Given the description of an element on the screen output the (x, y) to click on. 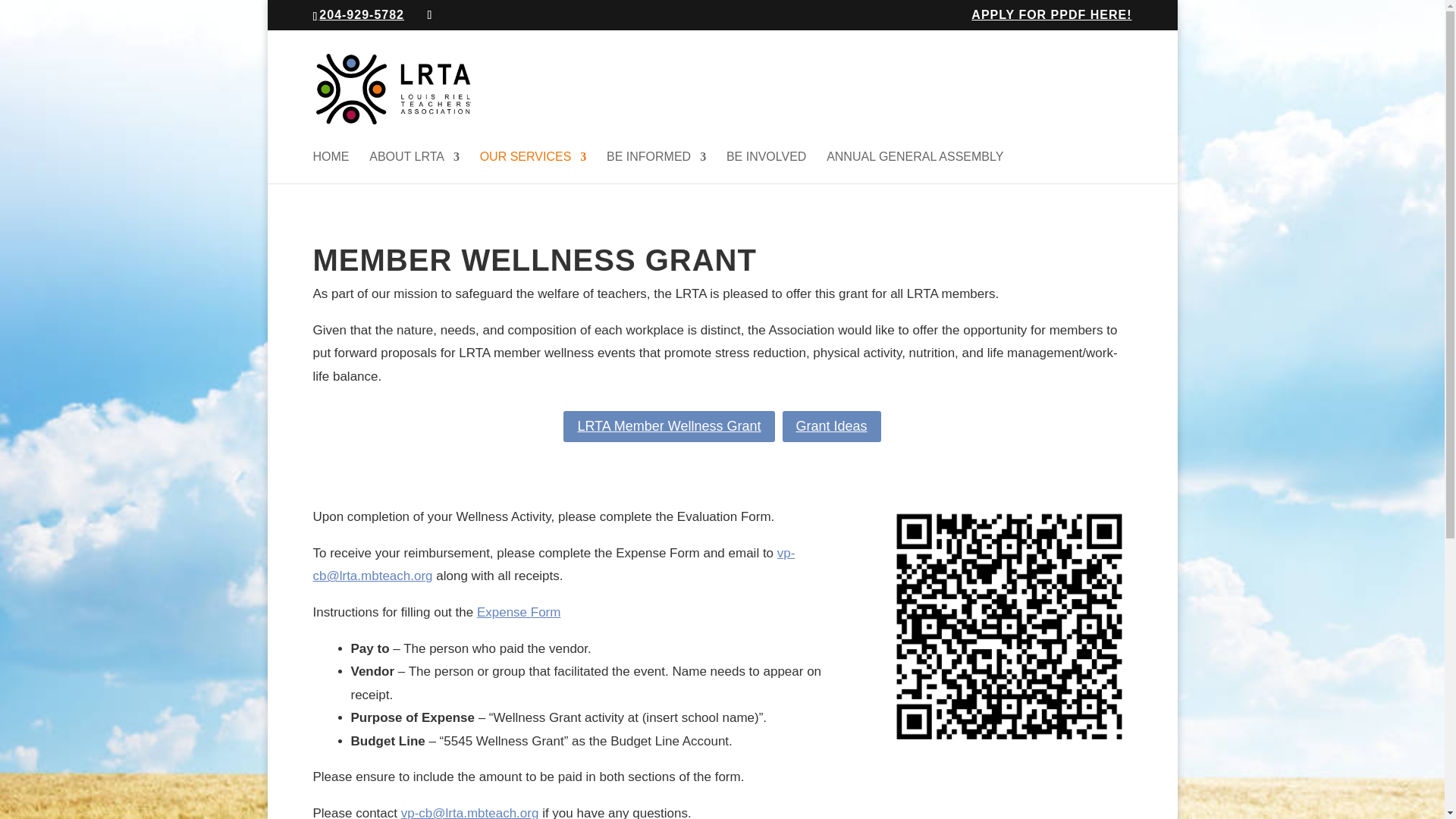
HOME (331, 167)
BE INVOLVED (766, 167)
APPLY FOR PPDF HERE! (1051, 19)
ABOUT LRTA (414, 167)
204-929-5782 (363, 14)
qr (1009, 627)
BE INFORMED (656, 167)
OUR SERVICES (533, 167)
ANNUAL GENERAL ASSEMBLY (915, 167)
